Given the description of an element on the screen output the (x, y) to click on. 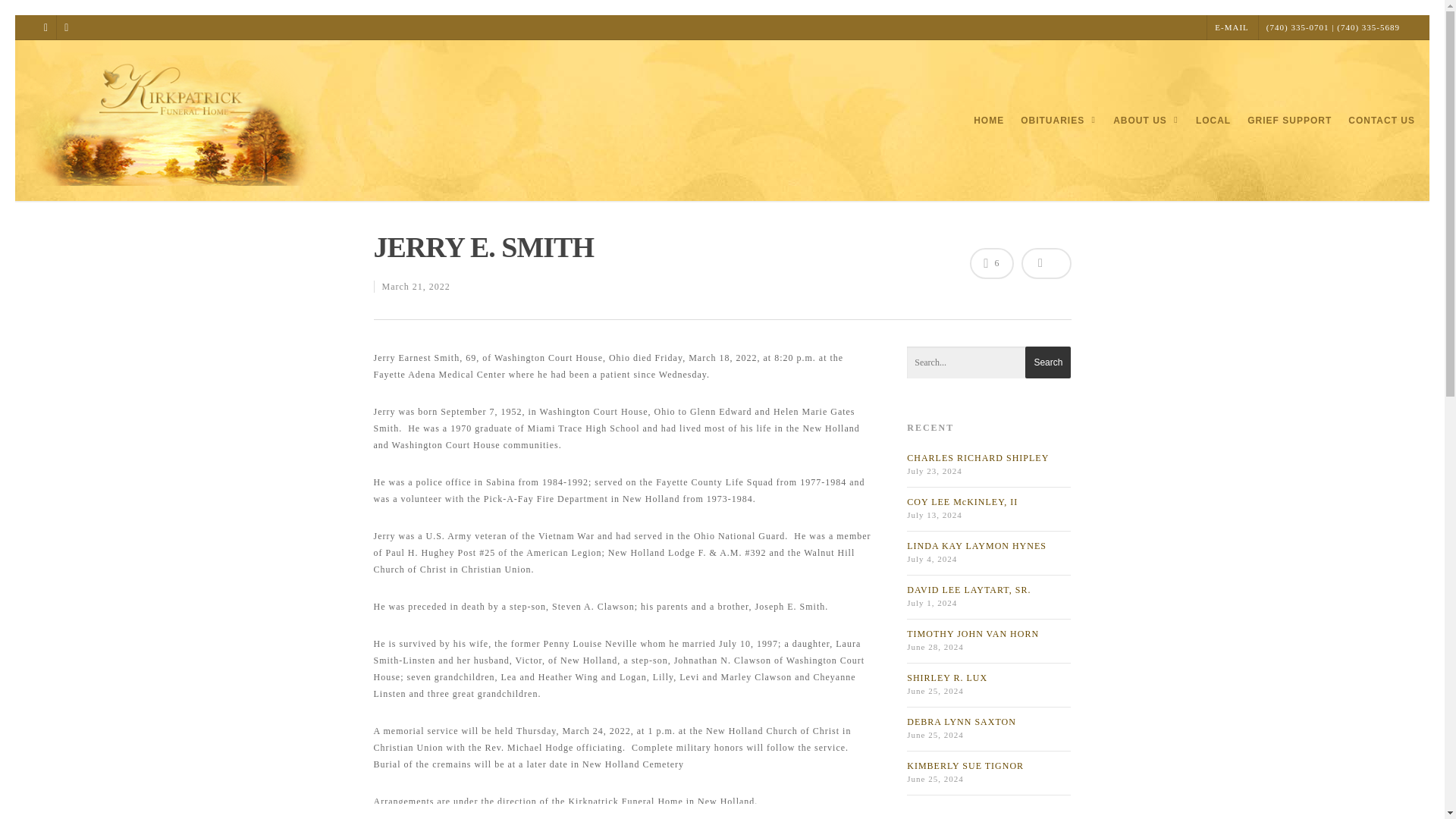
E-MAIL (1231, 27)
Search for: (988, 362)
6 (991, 263)
Search (1047, 362)
Search (1047, 362)
Love this (991, 263)
